Given the description of an element on the screen output the (x, y) to click on. 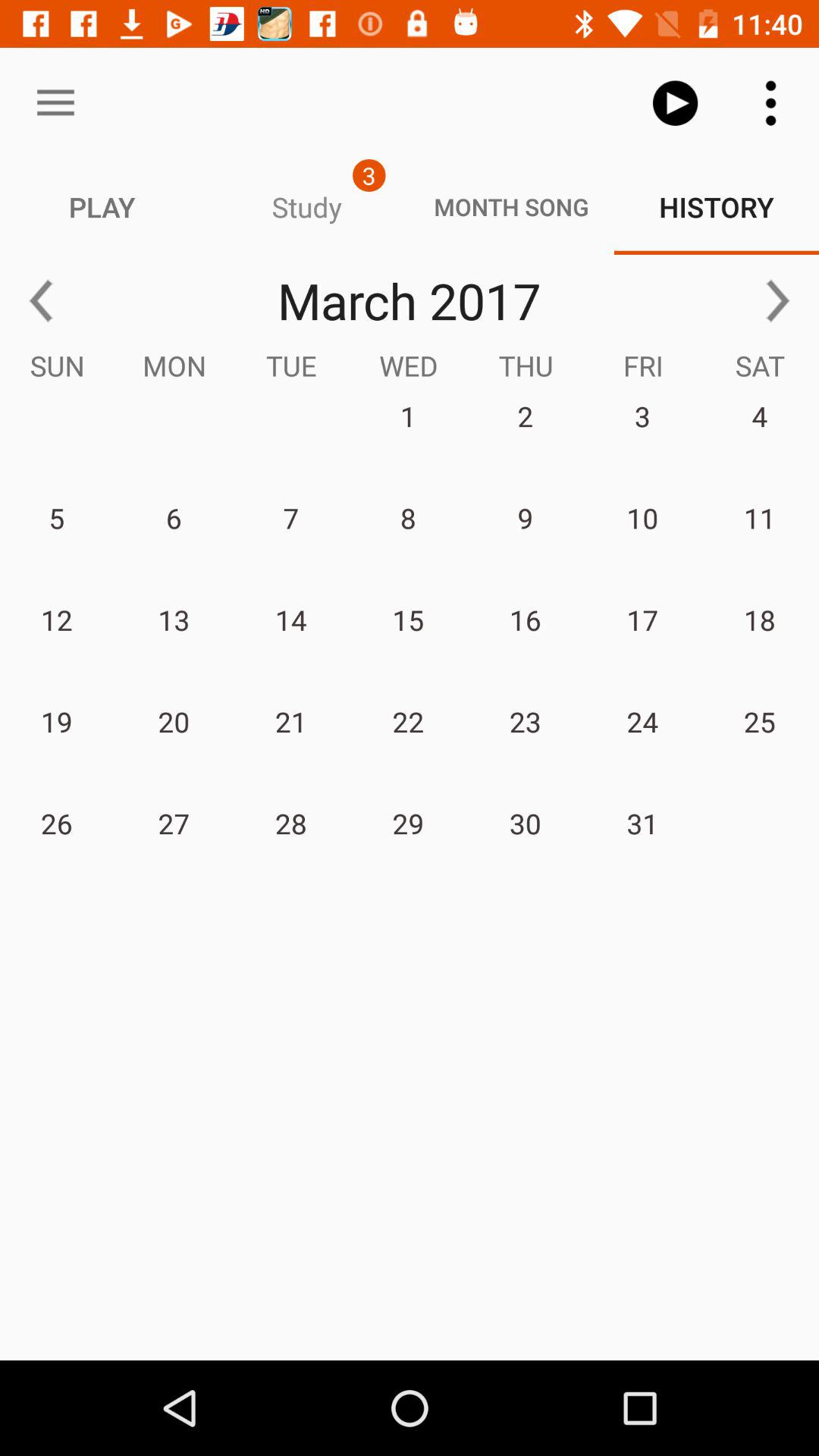
show previous month (40, 300)
